Given the description of an element on the screen output the (x, y) to click on. 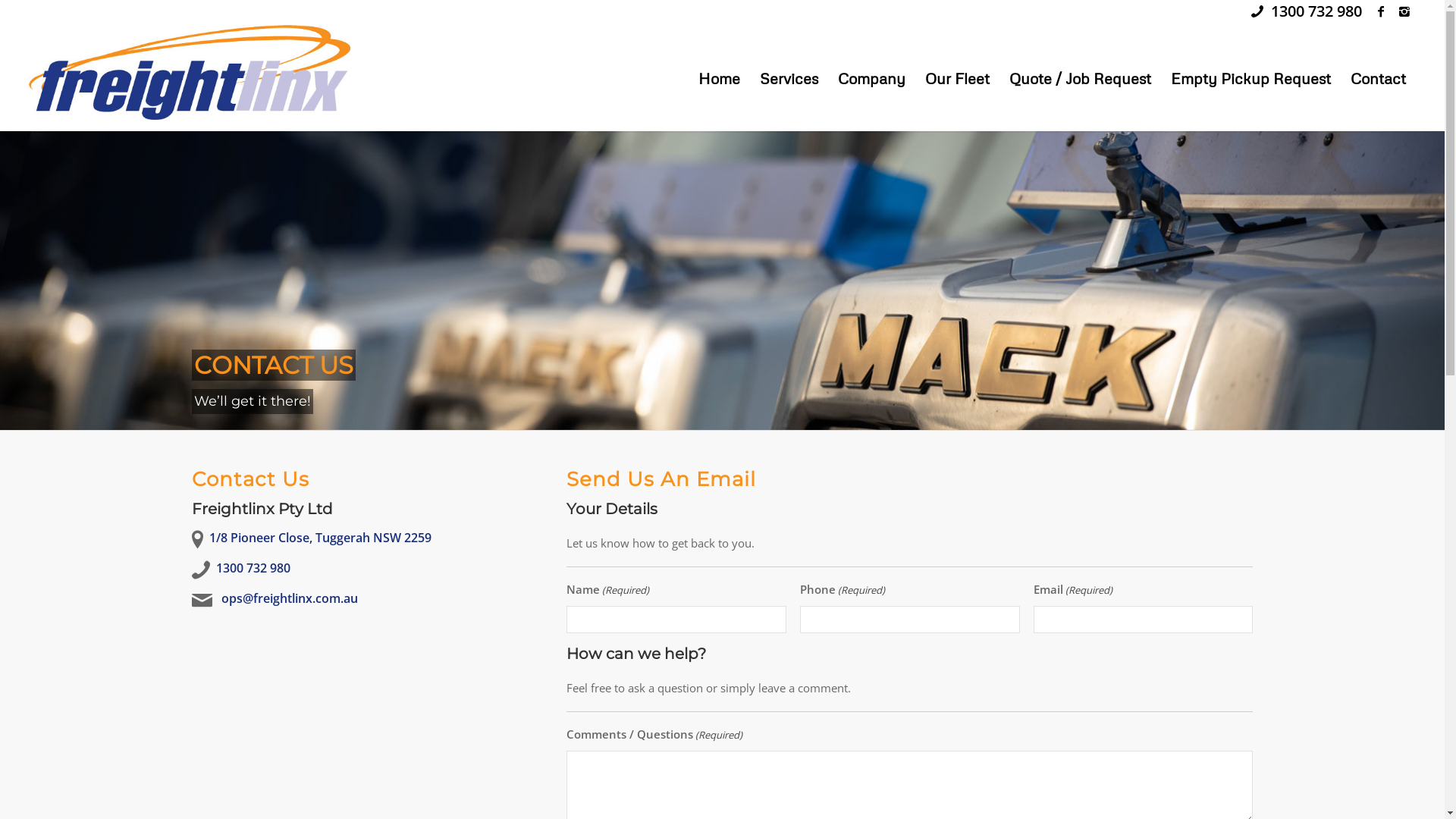
1300 732 980 Element type: text (1315, 10)
Empty Pickup Request Element type: text (1250, 78)
Quote / Job Request Element type: text (1080, 78)
ops@freightlinx.com.au Element type: text (289, 597)
Company Element type: text (871, 78)
1300 732 980 Element type: text (252, 567)
contact_1 Element type: hover (722, 278)
Services Element type: text (788, 78)
Our Fleet Element type: text (957, 78)
Facebook Element type: hover (1381, 11)
Home Element type: text (718, 78)
Instagram Element type: hover (1404, 11)
Contact Element type: text (1377, 78)
